Given the description of an element on the screen output the (x, y) to click on. 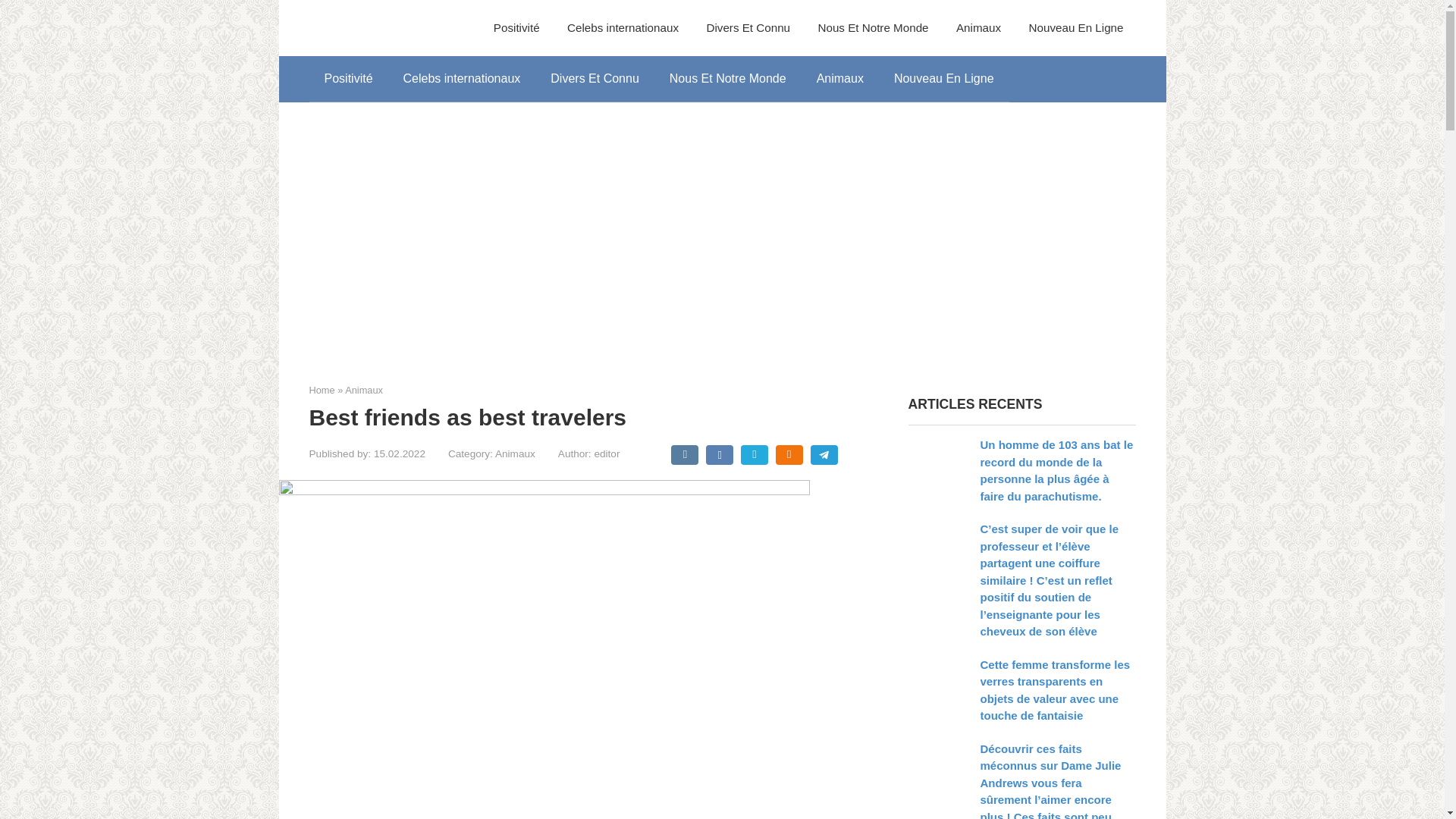
Celebs internationaux (461, 78)
Animaux (840, 78)
Nous Et Notre Monde (727, 78)
Animaux (978, 28)
Home (321, 389)
Celebs internationaux (622, 28)
Animaux (363, 389)
Nouveau En Ligne (1076, 28)
Divers Et Connu (594, 78)
Nouveau En Ligne (944, 78)
Animaux (515, 453)
Divers Et Connu (748, 28)
Nous Et Notre Monde (872, 28)
